Given the description of an element on the screen output the (x, y) to click on. 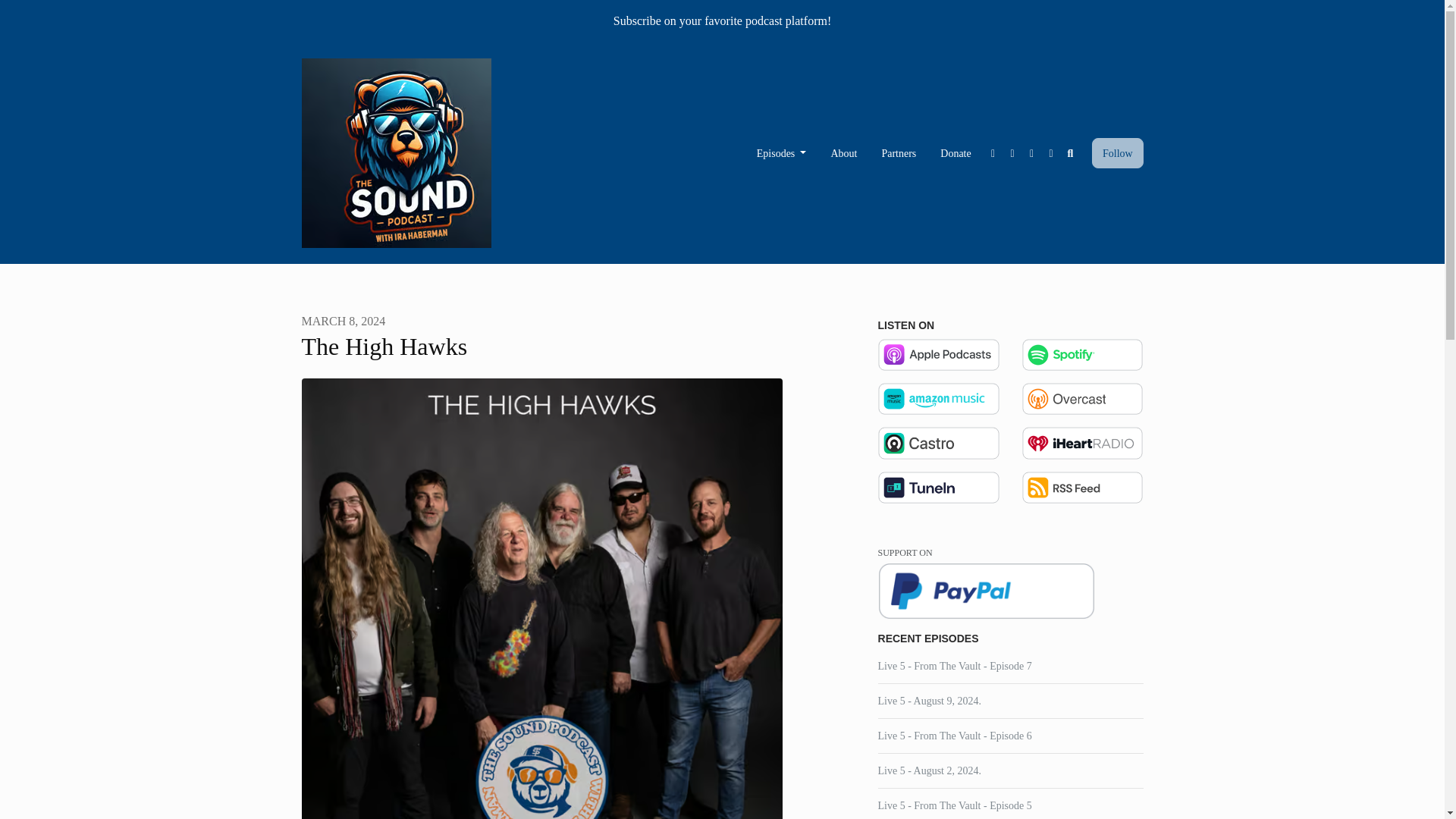
Partners (898, 153)
Follow (1117, 153)
Episodes (781, 153)
About (843, 153)
The Sound Podcast (396, 153)
Donate (955, 153)
